Given the description of an element on the screen output the (x, y) to click on. 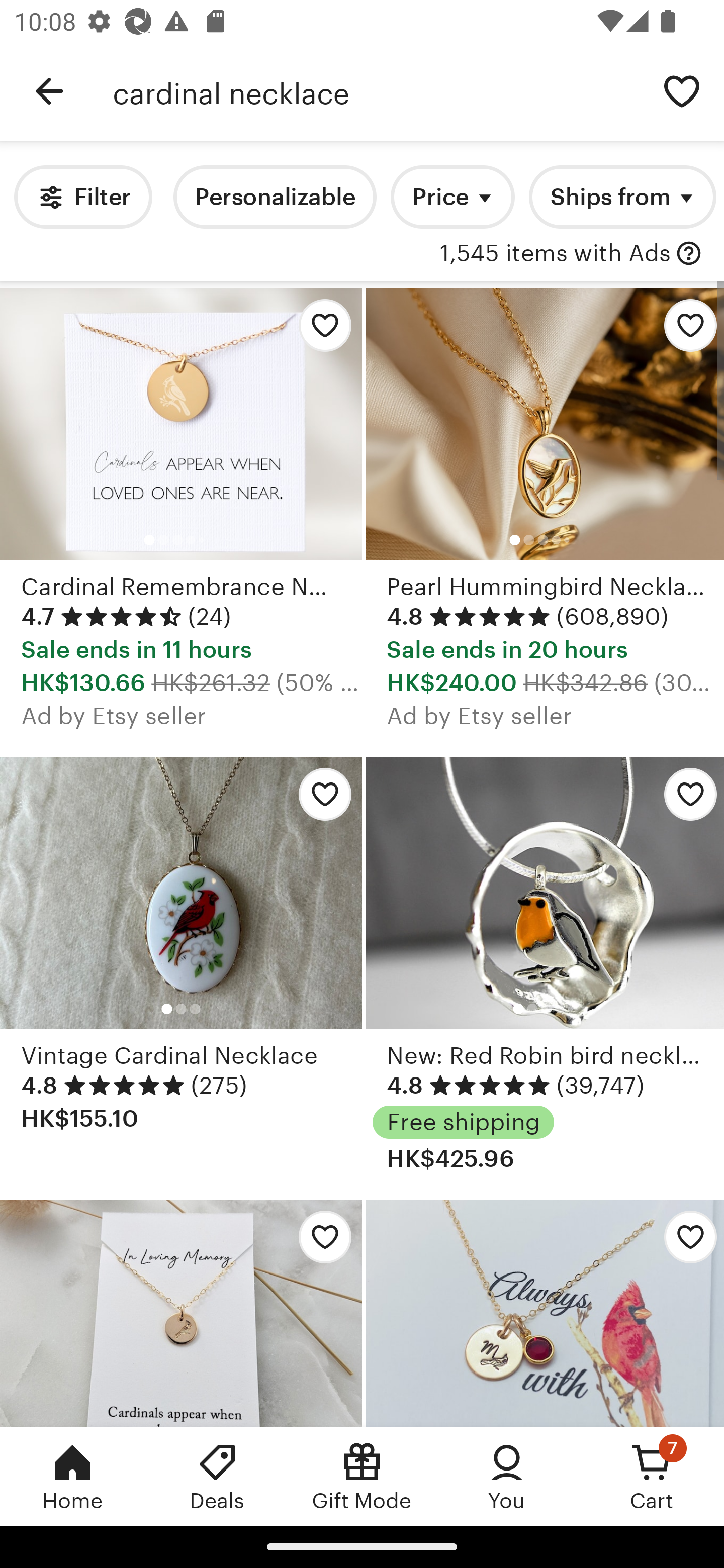
Navigate up (49, 91)
Save search (681, 90)
cardinal necklace (375, 91)
Filter (82, 197)
Personalizable (274, 197)
Price (452, 197)
Ships from (622, 197)
1,545 items with Ads (555, 253)
with Ads (688, 253)
Add Vintage Cardinal Necklace to favorites (319, 799)
Deals (216, 1475)
Gift Mode (361, 1475)
You (506, 1475)
Cart, 7 new notifications Cart (651, 1475)
